Given the description of an element on the screen output the (x, y) to click on. 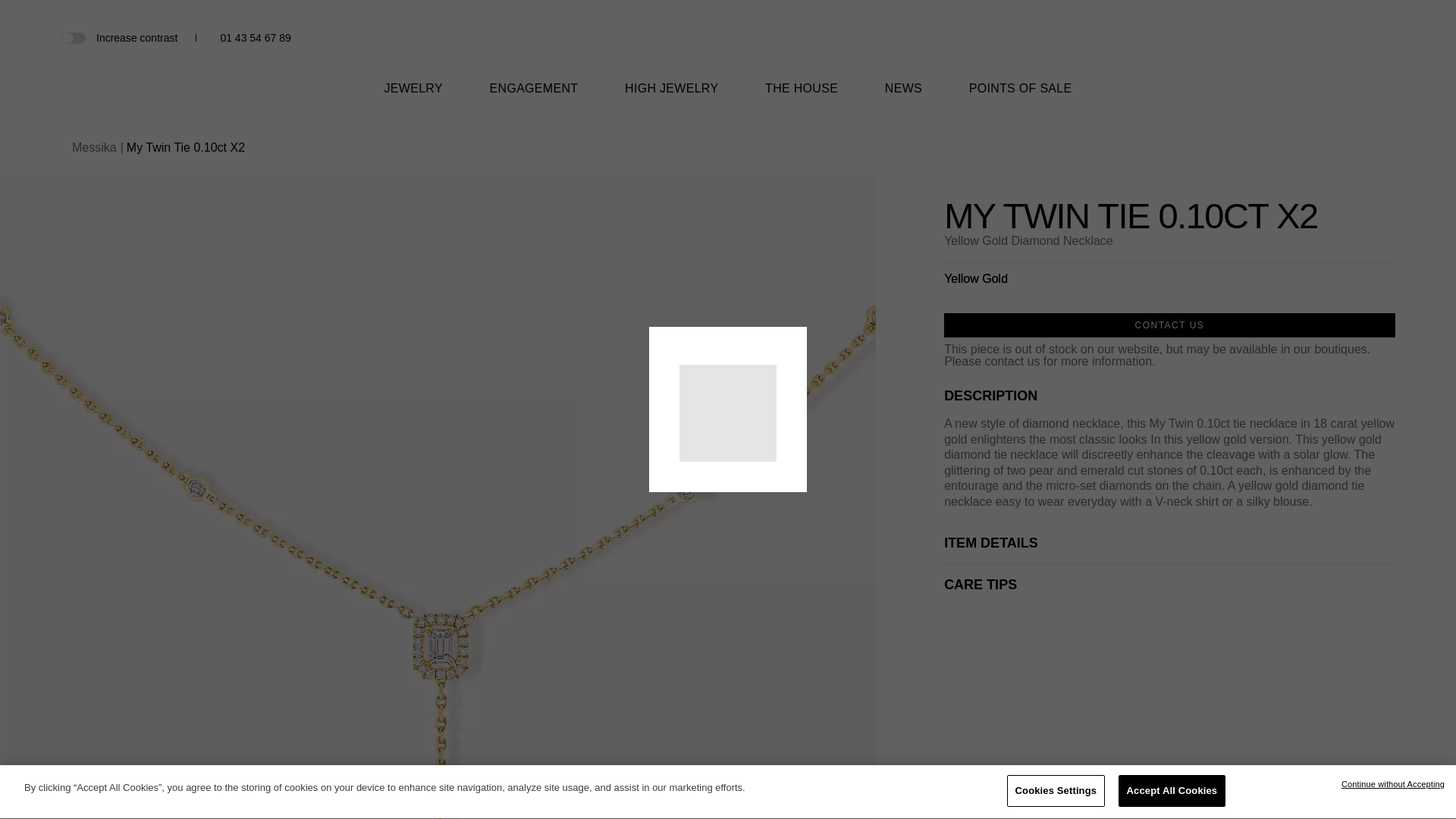
Wishlist (1360, 37)
Messika (727, 46)
Wishlist (1360, 38)
Search (1335, 39)
JEWELRY (413, 97)
01 43 54 67 89 (254, 37)
Messika (727, 57)
on (73, 36)
01 43 54 67 89 (254, 37)
